Given the description of an element on the screen output the (x, y) to click on. 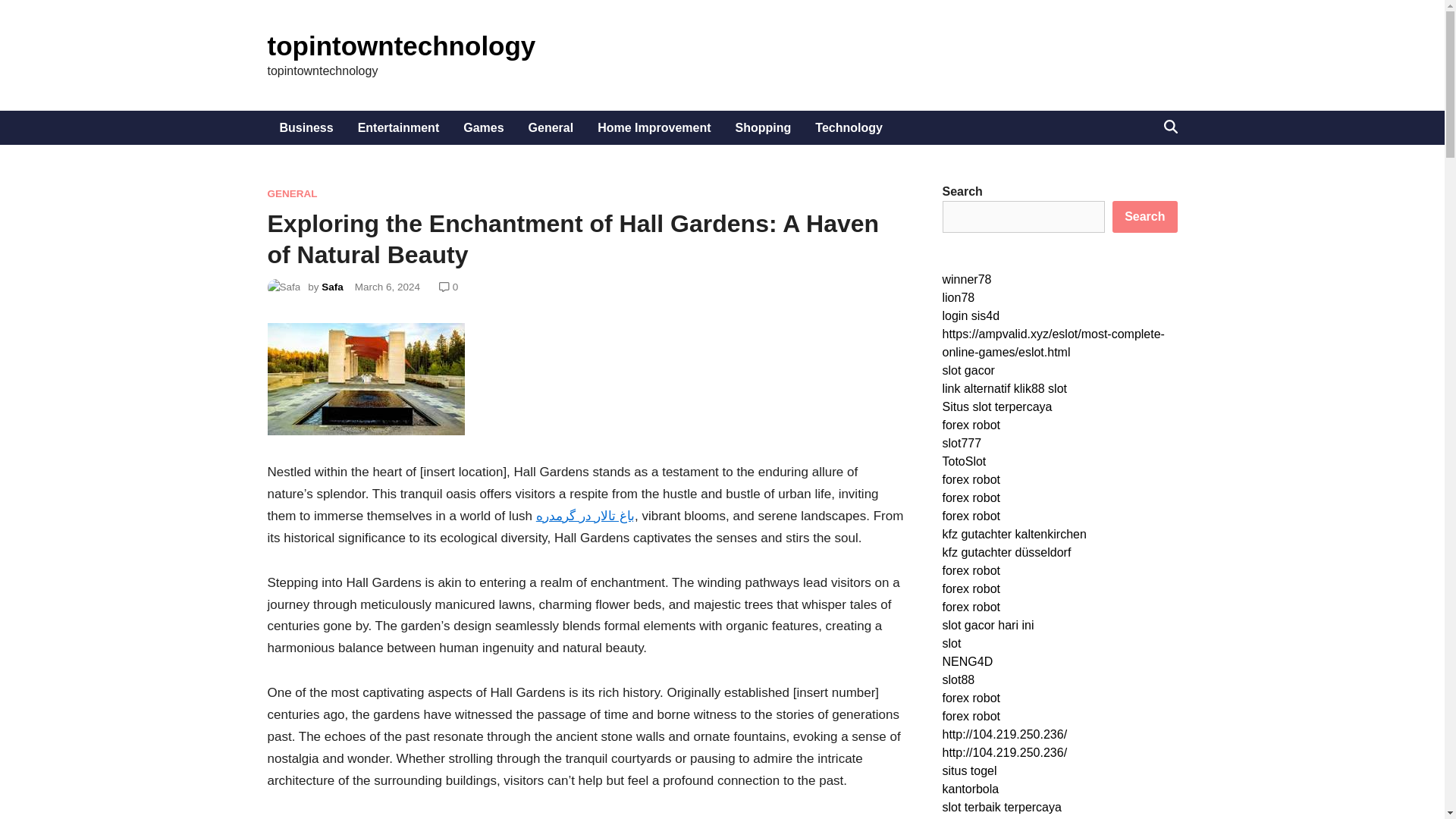
Games (483, 127)
forex robot (970, 424)
login sis4d (970, 315)
forex robot (970, 479)
March 6, 2024 (387, 286)
General (551, 127)
Safa (332, 286)
kfz gutachter kaltenkirchen (1014, 533)
Situs slot terpercaya (996, 406)
Technology (849, 127)
lion78 (958, 297)
forex robot (970, 497)
TotoSlot (963, 461)
link alternatif klik88 slot (1004, 388)
Home Improvement (653, 127)
